Given the description of an element on the screen output the (x, y) to click on. 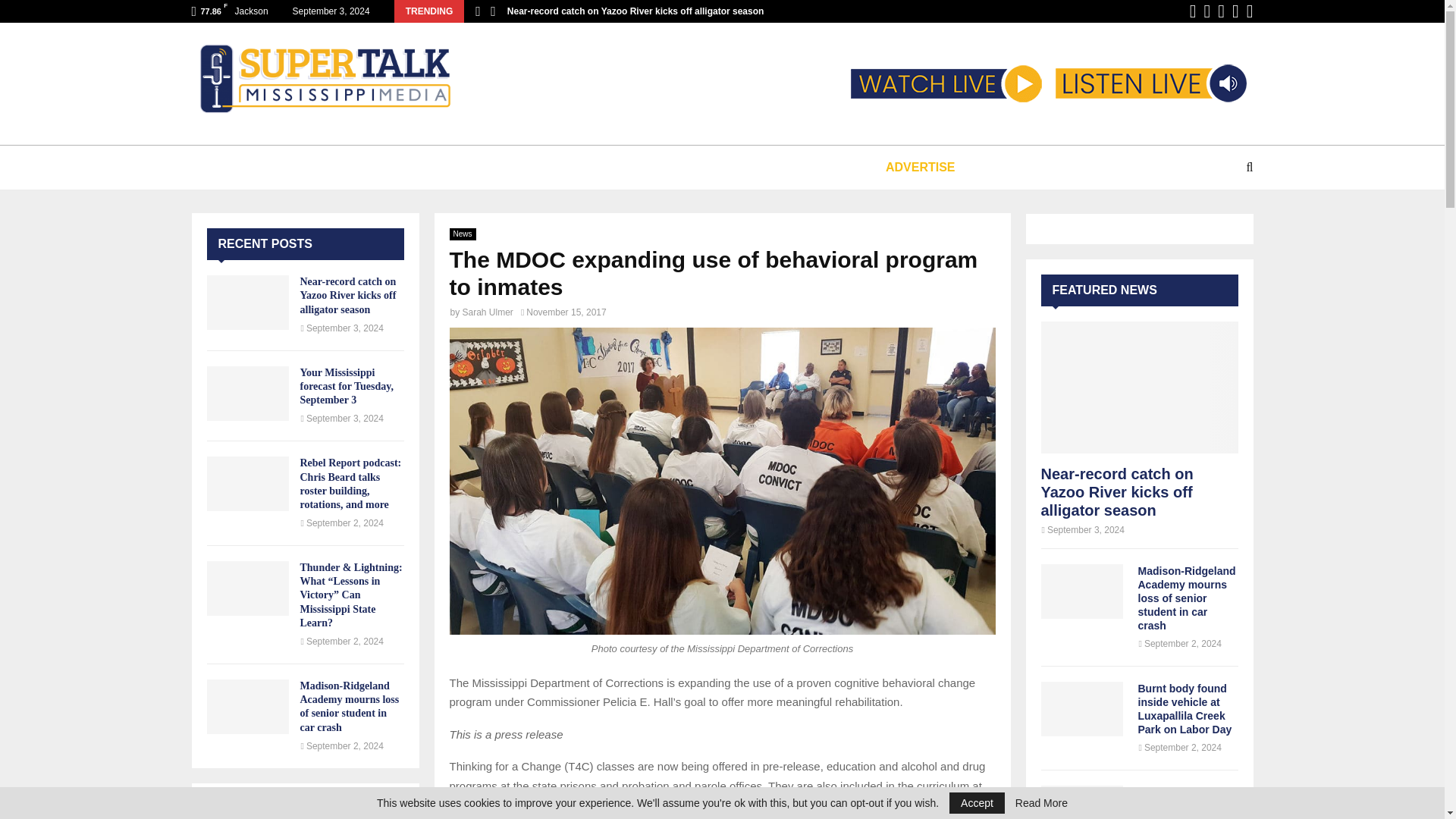
Near-record catch on Yazoo River kicks off alligator season (247, 302)
Near-record catch on Yazoo River kicks off alligator season (635, 10)
STATIONS (345, 167)
TUNE IN (255, 167)
